Given the description of an element on the screen output the (x, y) to click on. 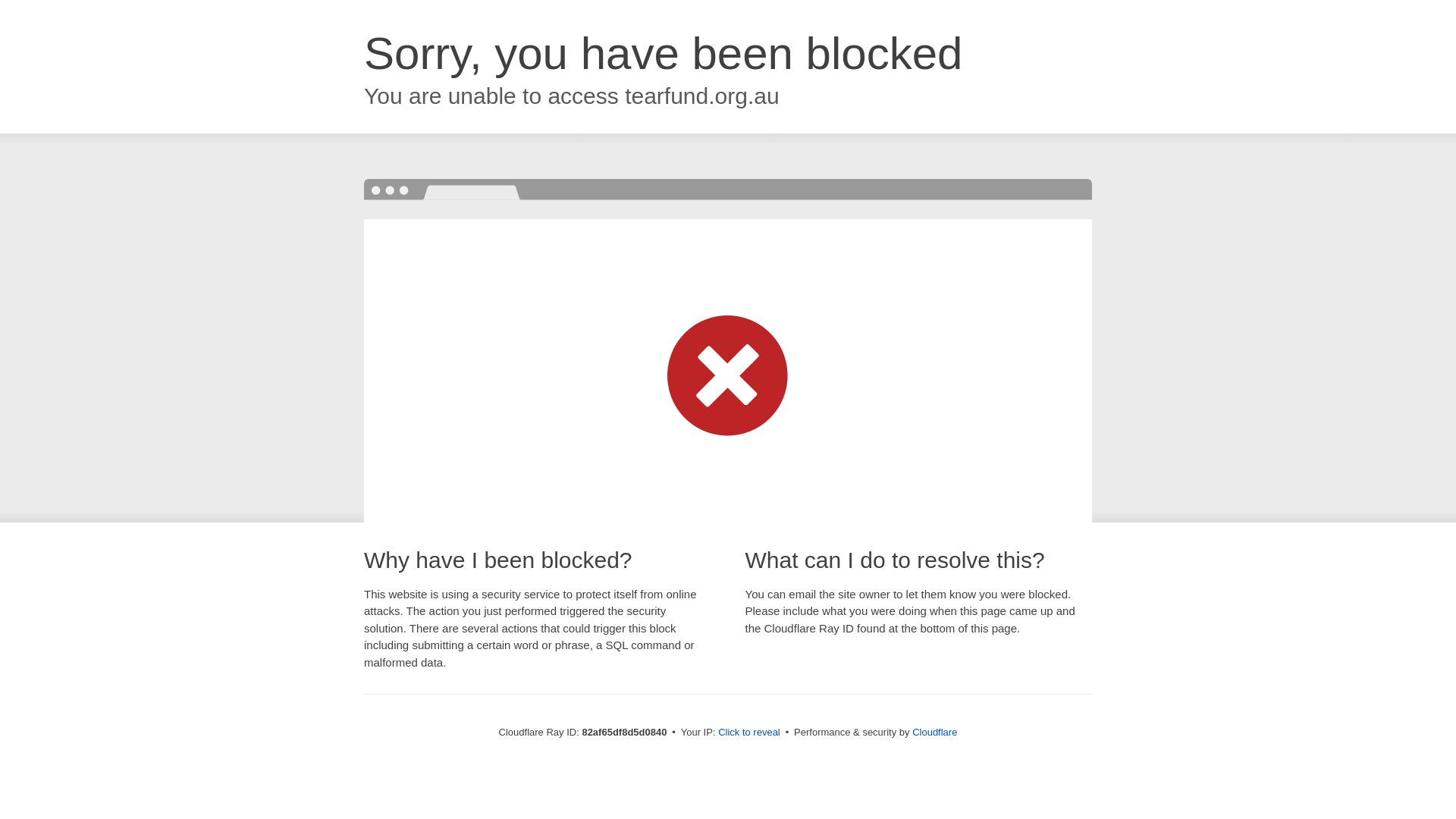
Click to reveal Element type: text (749, 732)
Cloudflare Element type: text (934, 731)
